Given the description of an element on the screen output the (x, y) to click on. 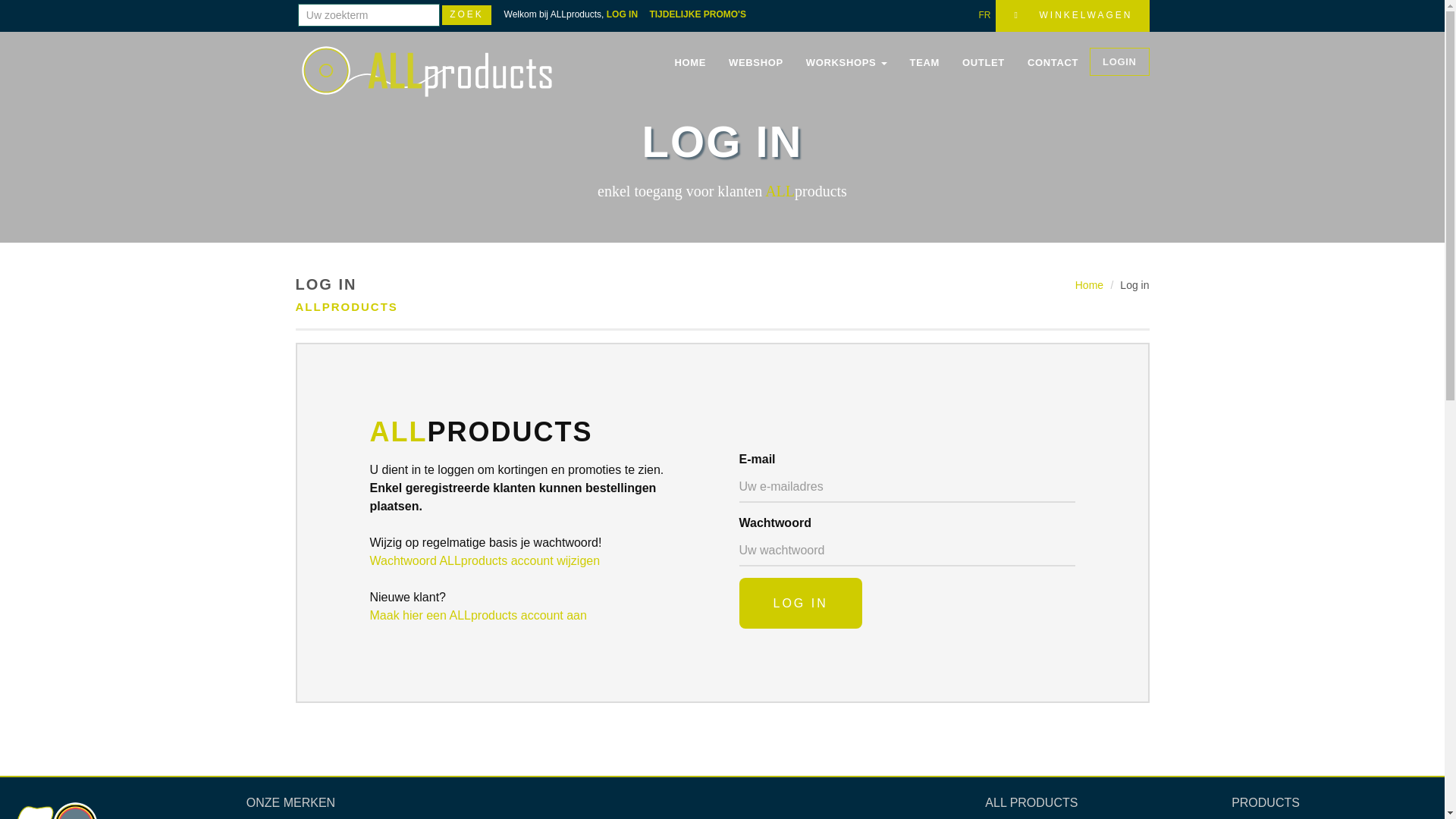
FR Element type: text (984, 14)
Zoek Element type: text (466, 15)
Maak hier een ALLproducts account aan Element type: text (478, 614)
LOGIN Element type: text (1118, 61)
Geef een geldig wachtwoord in Element type: hover (906, 551)
Home Element type: text (1089, 285)
LOG IN Element type: text (626, 14)
HOME Element type: text (690, 62)
Wachtwoord ALLproducts account wijzigen Element type: text (485, 560)
CONTACT Element type: text (1052, 62)
WINKELWAGEN Element type: text (1071, 15)
Geef een geldig e-mailadres in Element type: hover (906, 487)
TEAM Element type: text (924, 62)
WORKSHOPS Element type: text (846, 62)
TIJDELIJKE PROMO'S Element type: text (702, 14)
LOG IN Element type: text (799, 602)
OUTLET Element type: text (983, 62)
WEBSHOP Element type: text (755, 62)
